Given the description of an element on the screen output the (x, y) to click on. 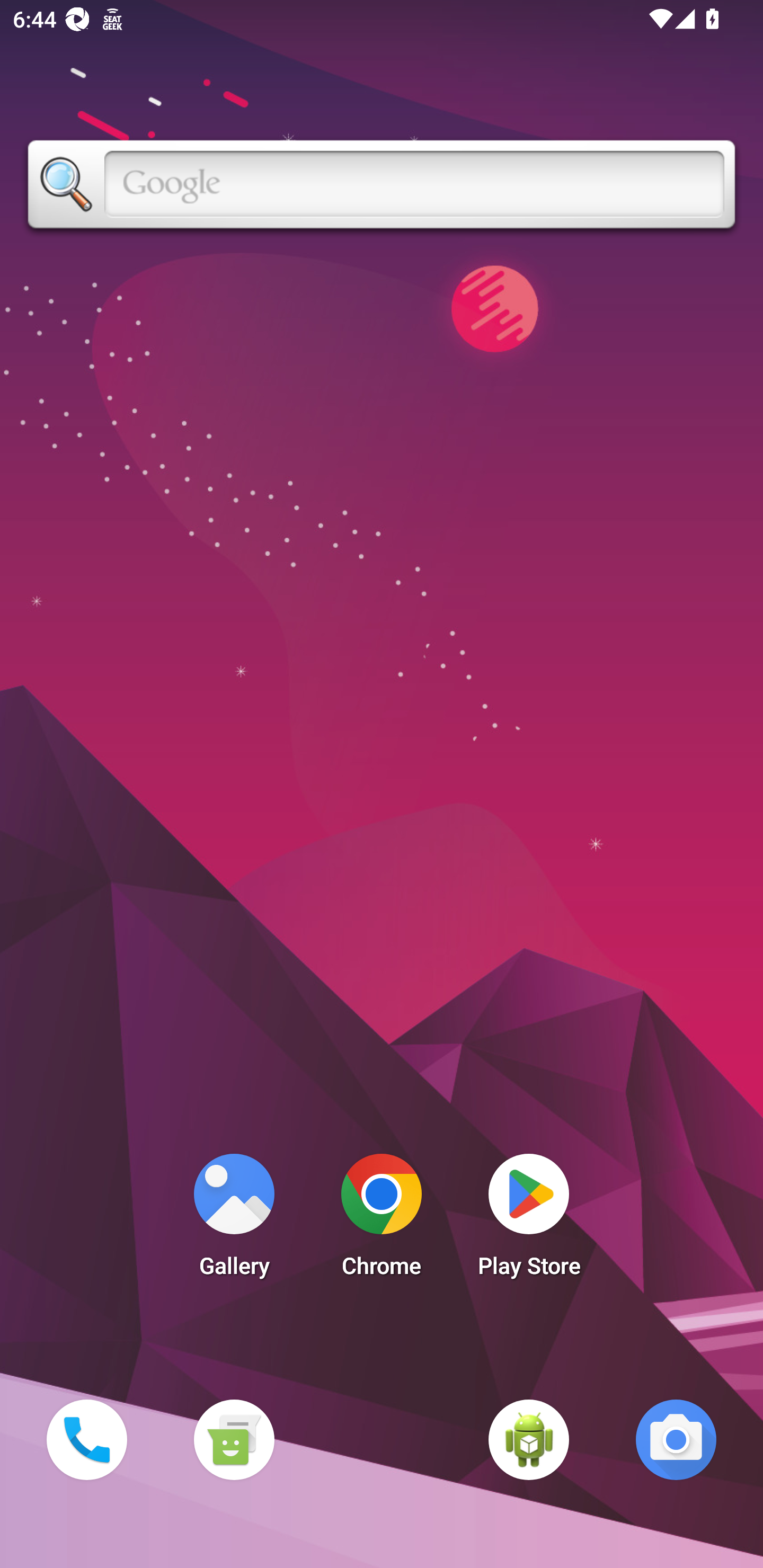
Gallery (233, 1220)
Chrome (381, 1220)
Play Store (528, 1220)
Phone (86, 1439)
Messaging (233, 1439)
WebView Browser Tester (528, 1439)
Camera (676, 1439)
